Given the description of an element on the screen output the (x, y) to click on. 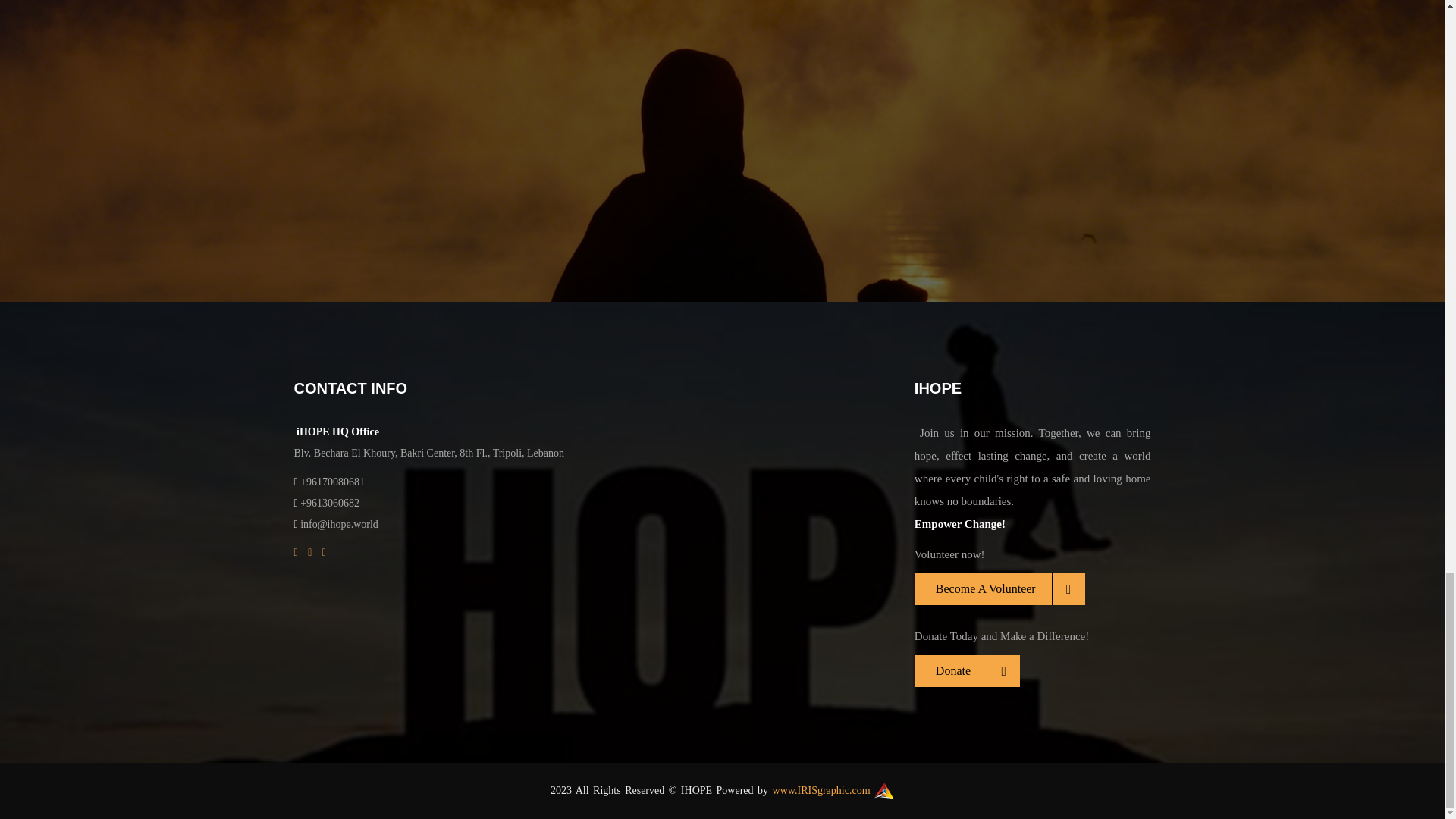
Donate (967, 671)
Become A Volunteer (999, 589)
Welcome to iHOPE. (742, 102)
www.IRISgraphic.com (821, 790)
